Given the description of an element on the screen output the (x, y) to click on. 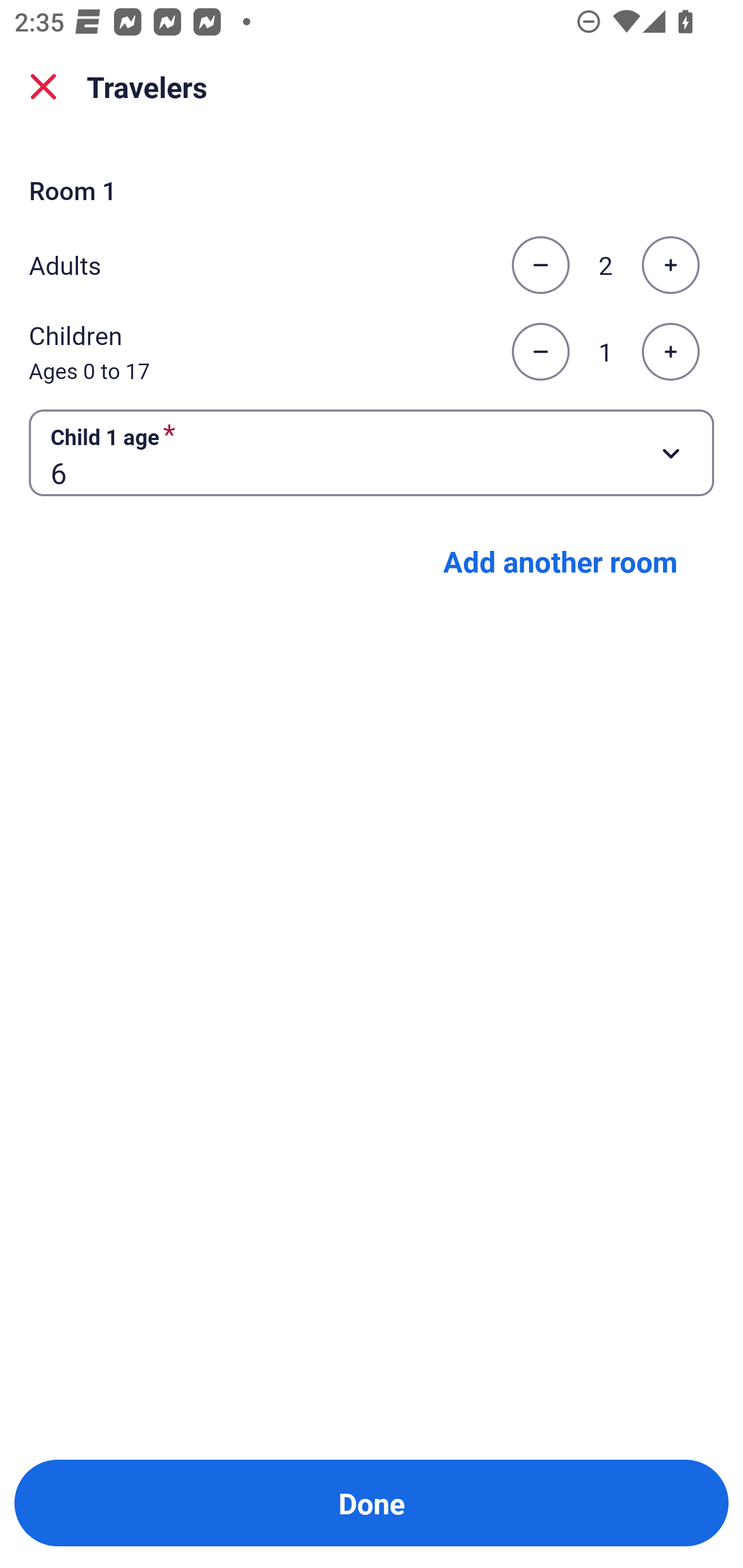
close (43, 86)
Decrease the number of adults (540, 264)
Increase the number of adults (670, 264)
Decrease the number of children (540, 351)
Increase the number of children (670, 351)
Child 1 age required Button 6 (371, 452)
Add another room (560, 561)
Done (371, 1502)
